Given the description of an element on the screen output the (x, y) to click on. 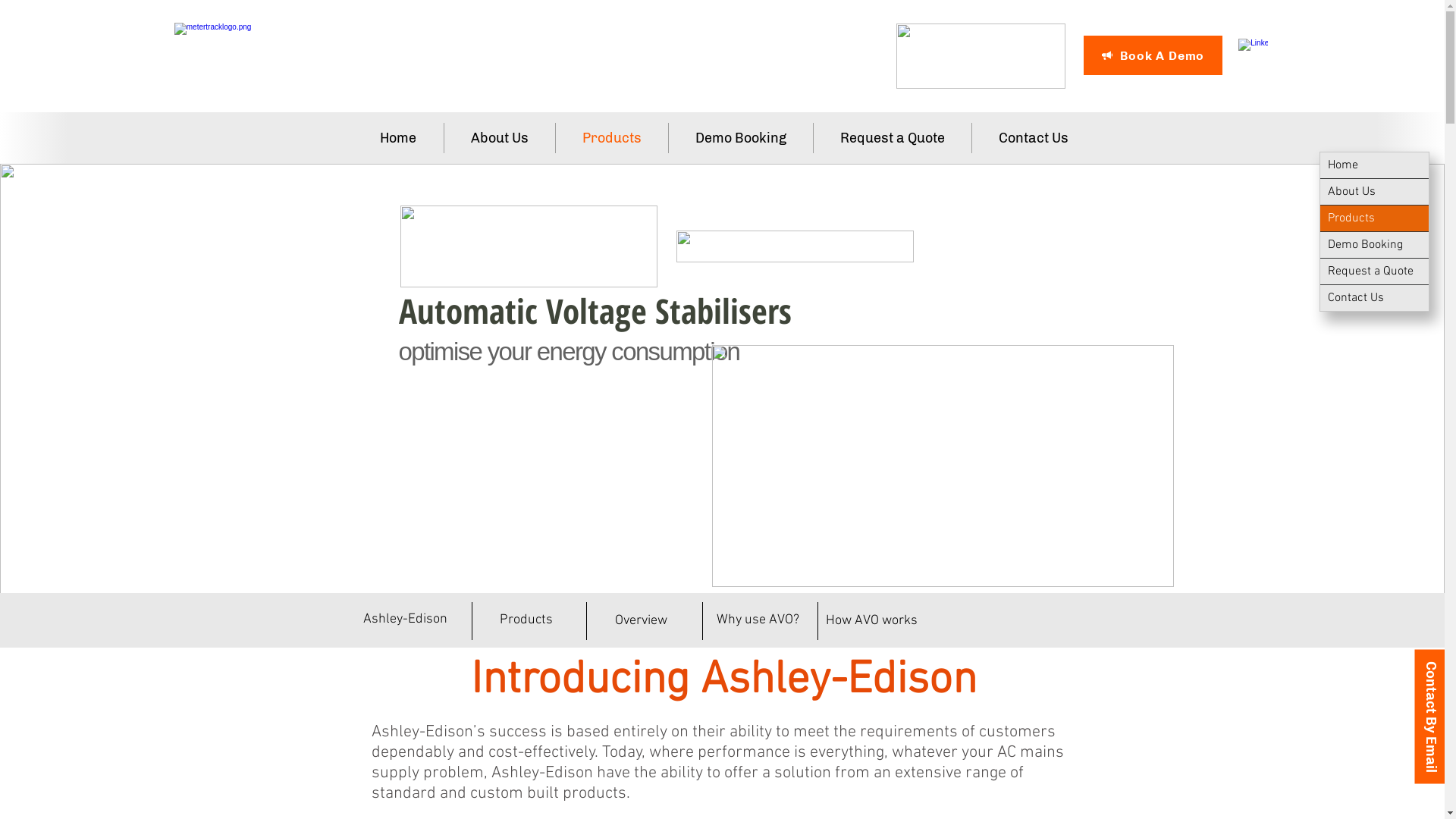
Products Element type: text (526, 620)
Request a Quote Element type: text (1374, 271)
Home Element type: text (1374, 165)
Contact Us Element type: text (1032, 137)
Request a Quote Element type: text (891, 137)
Demo Booking Element type: text (739, 137)
About Us Element type: text (1374, 191)
About Us Element type: text (498, 137)
Contact Us Element type: text (1374, 297)
Products Element type: text (1374, 218)
Book A Demo Element type: text (1152, 55)
Home Element type: text (398, 137)
Ashley-Edison Element type: text (405, 619)
How AVO works Element type: text (870, 621)
Why use AVO? Element type: text (757, 620)
Overview Element type: text (640, 621)
Products Element type: text (611, 137)
Demo Booking Element type: text (1374, 244)
